Given the description of an element on the screen output the (x, y) to click on. 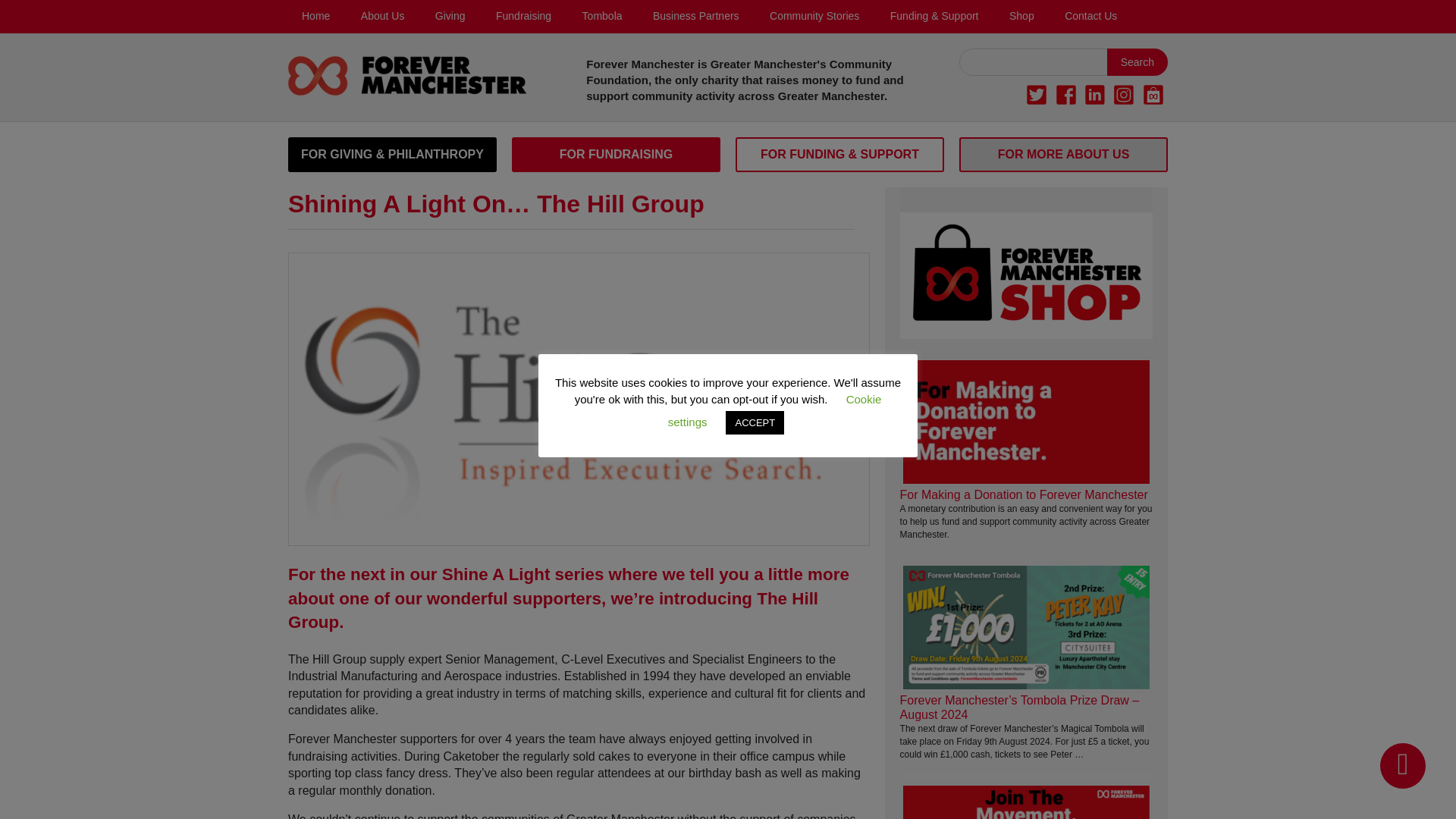
FOR MORE ABOUT US (1063, 154)
Giving (450, 16)
Community Stories (813, 16)
Tombola (602, 16)
Fundraising (522, 16)
Search (1136, 62)
About Us (383, 16)
Search (1136, 62)
For More About Us (1063, 154)
FOR FUNDRAISING (616, 154)
For Fundraising (616, 154)
Permalink to For Making a Donation to Forever Manchester (1023, 494)
Home (315, 16)
Contact Us (1091, 16)
Shop (1021, 16)
